Given the description of an element on the screen output the (x, y) to click on. 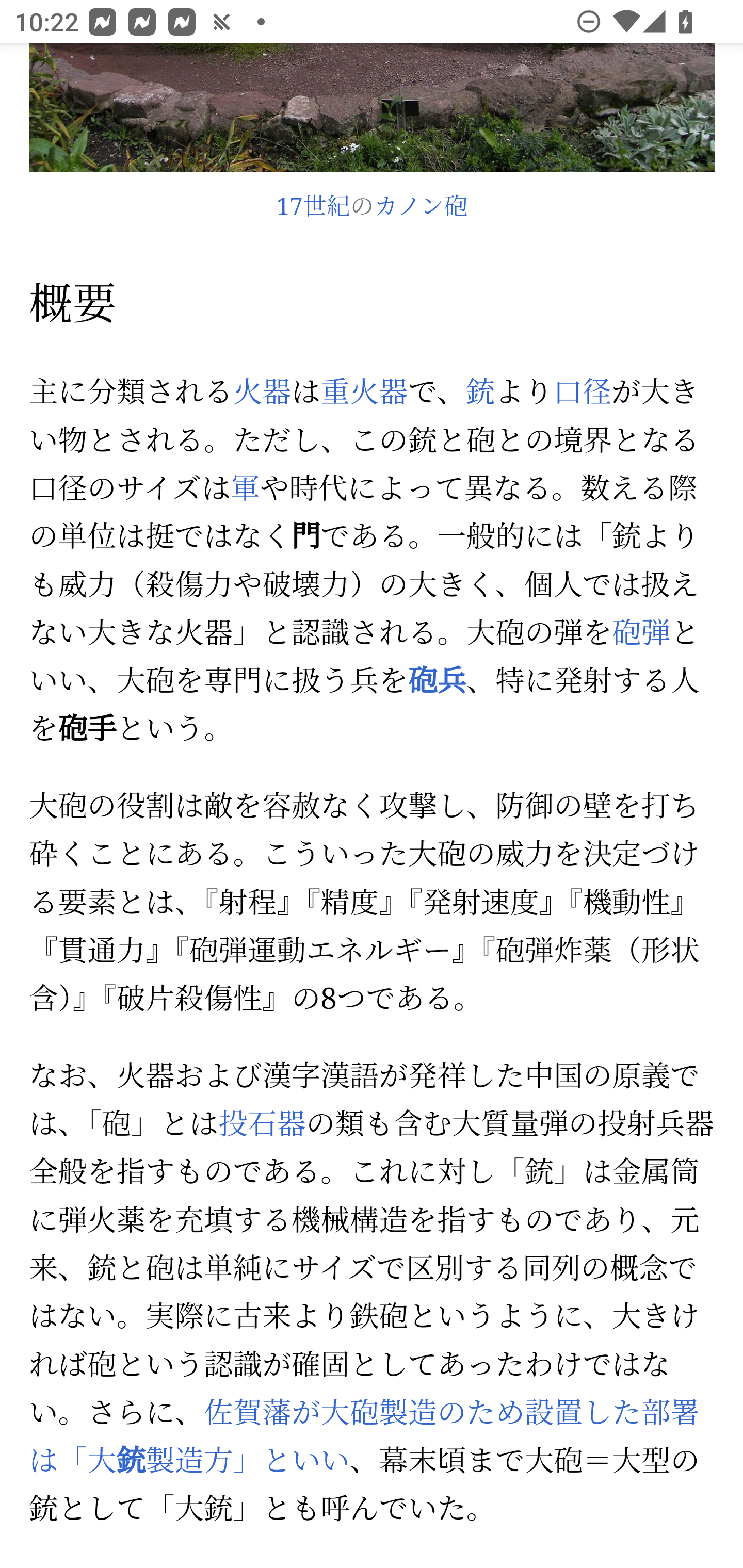
17世紀 (313, 208)
カノン砲 (420, 208)
火器 (261, 392)
重火器 (364, 392)
銃 (479, 392)
口径 (582, 392)
軍 (244, 491)
砲弾 (640, 635)
砲兵 (436, 683)
投石器 (261, 1126)
